Given the description of an element on the screen output the (x, y) to click on. 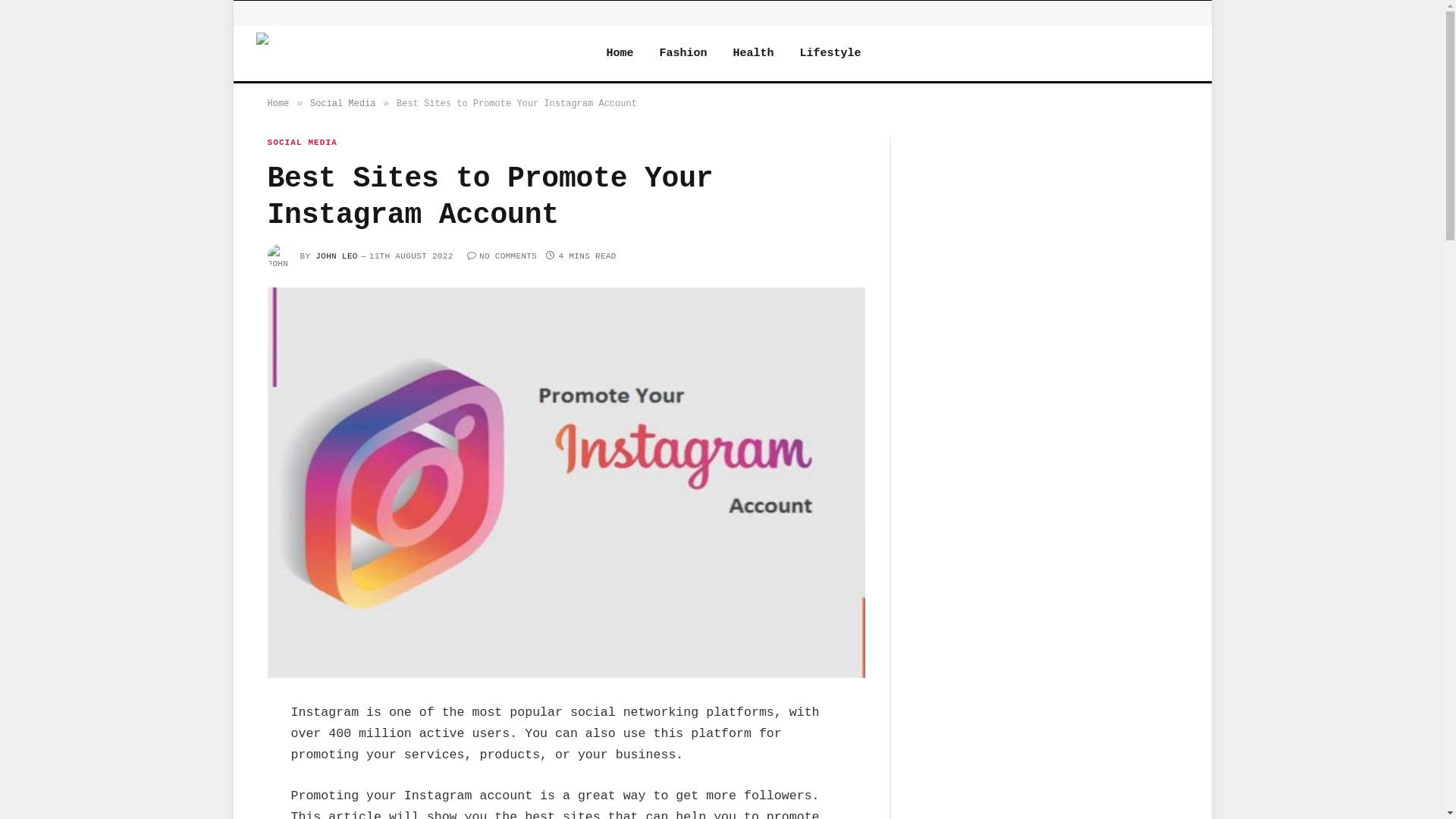
Home Element type: text (619, 53)
NO COMMENTS Element type: text (502, 255)
Fashion Element type: text (683, 53)
Home Element type: text (277, 103)
Social Media Element type: text (342, 103)
JOHN LEO Element type: text (336, 255)
SOCIAL MEDIA Element type: text (301, 142)
Lifestyle Element type: text (830, 53)
Best Sites to Promote Your Instagram Account Element type: hover (565, 482)
Health Element type: text (753, 53)
Masstamilan Element type: hover (411, 52)
